Given the description of an element on the screen output the (x, y) to click on. 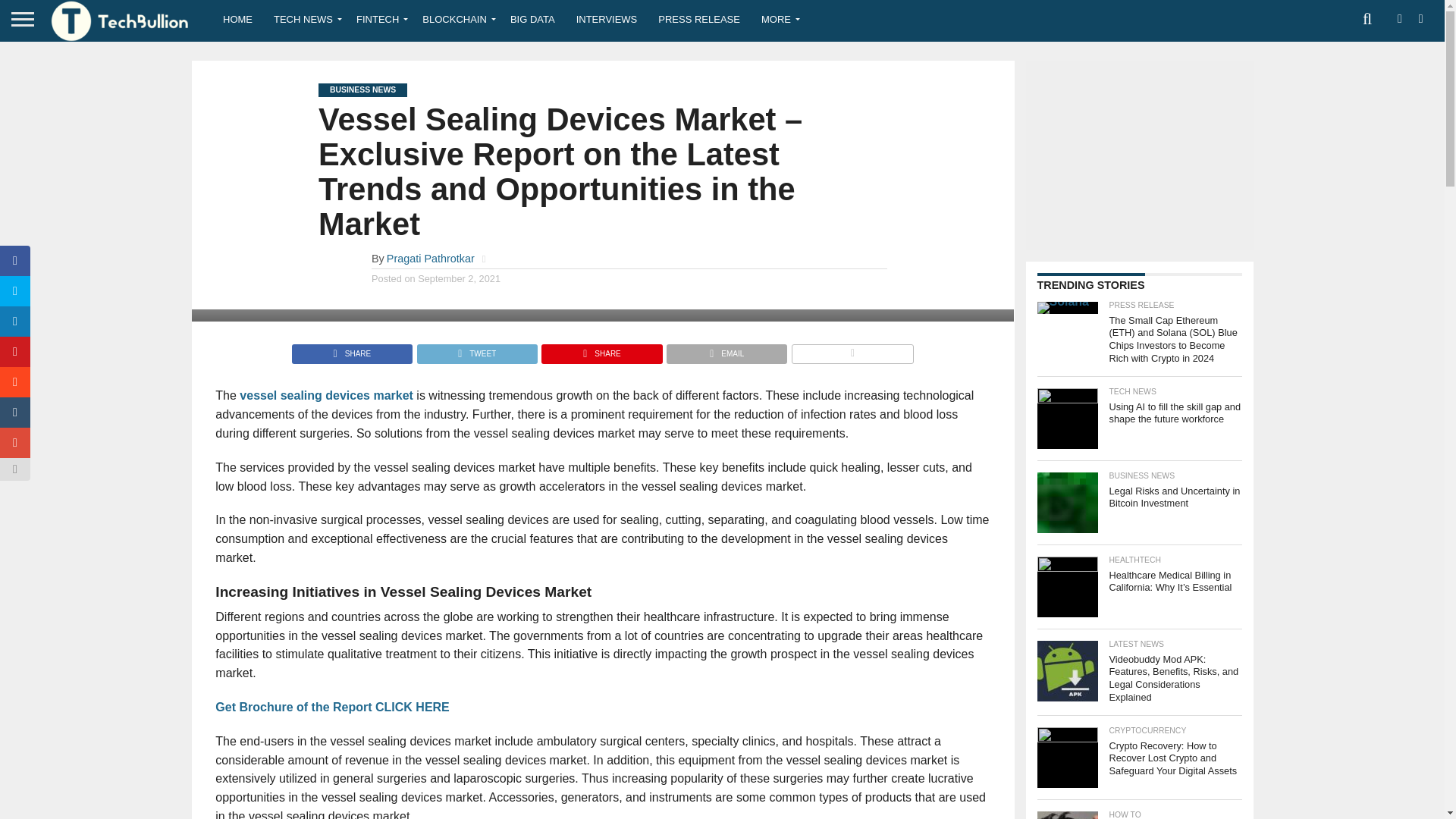
Posts by Pragati Pathrotkar (430, 258)
Share on Facebook (352, 349)
Pin This Post (601, 349)
Tweet This Post (476, 349)
